Given the description of an element on the screen output the (x, y) to click on. 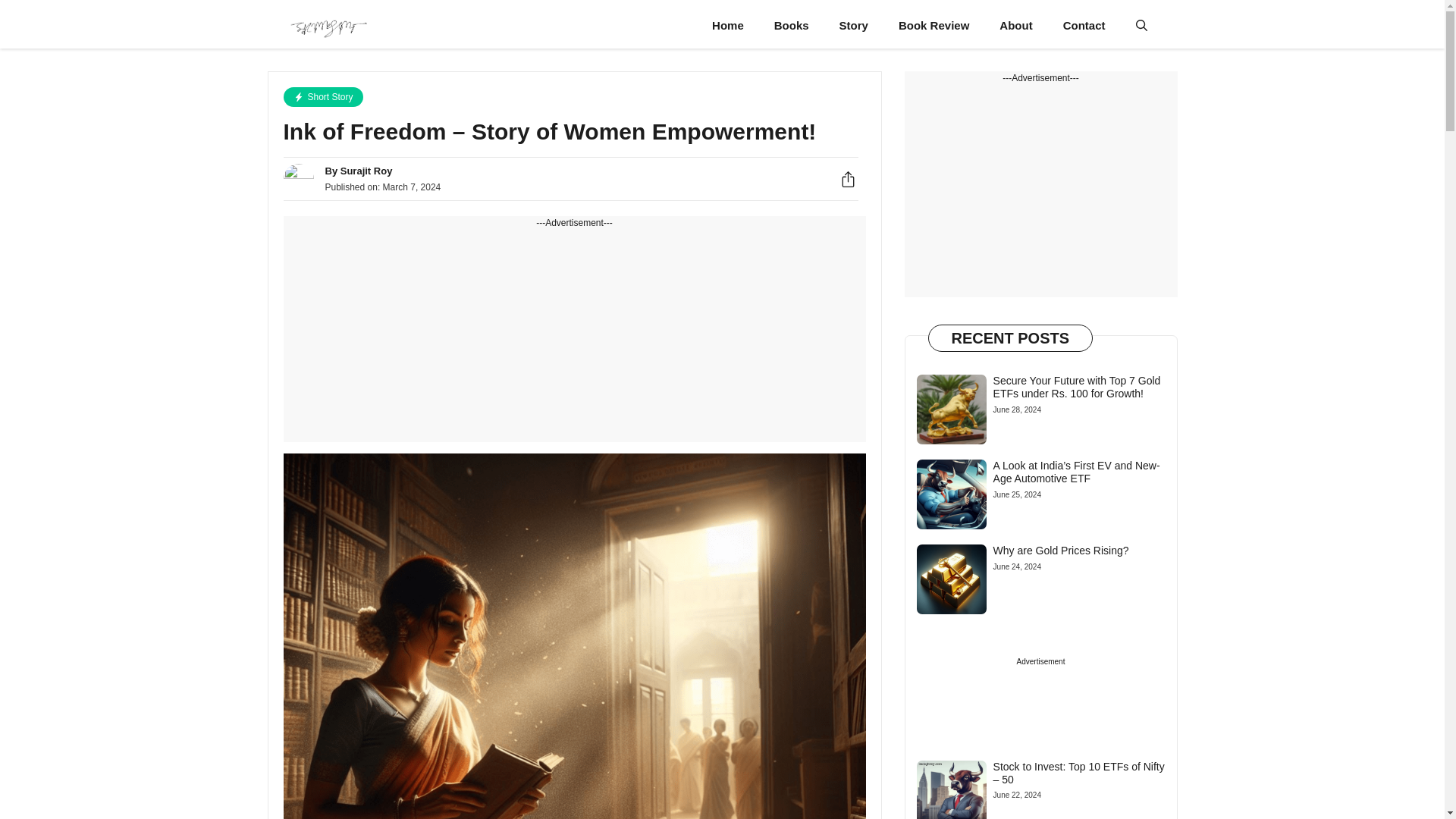
Surajit Roy (327, 25)
Home (727, 25)
Books (791, 25)
Surajit Roy (366, 170)
Book Review (933, 25)
Advertisement (574, 336)
Short Story (322, 96)
Contact (1084, 25)
Story (853, 25)
About (1015, 25)
